Given the description of an element on the screen output the (x, y) to click on. 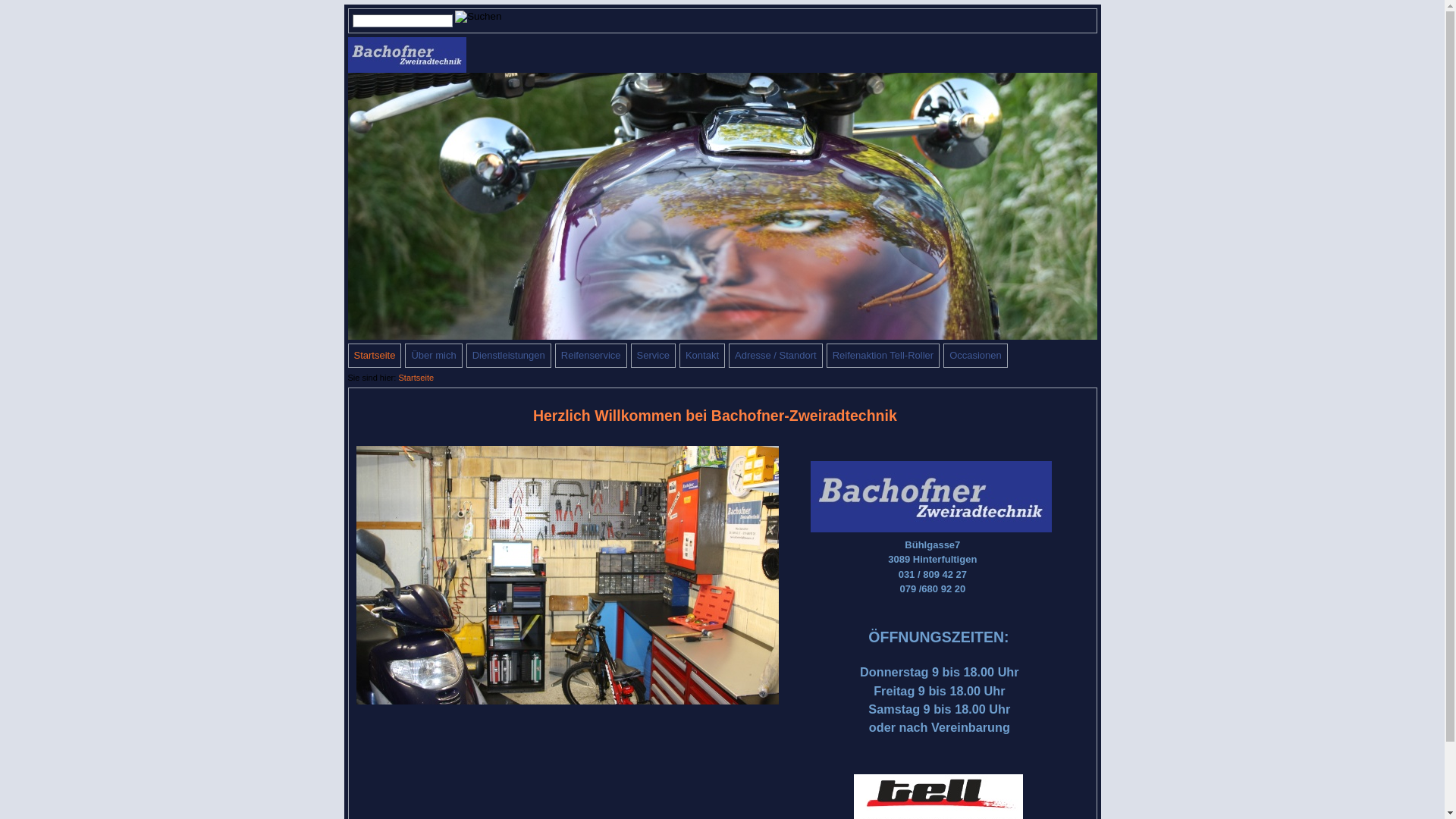
Occasionen Element type: text (975, 355)
Reifenservice Element type: text (591, 355)
IMG_0597.jpg Element type: hover (406, 54)
Dienstleistungen Element type: text (508, 355)
Reifenaktion Tell-Roller Element type: text (882, 355)
LOGO Element type: hover (930, 496)
IMG_0472.jpg Element type: hover (567, 574)
Startseite Element type: text (374, 355)
IMG 0597 Element type: hover (721, 205)
Kontakt Element type: text (701, 355)
Startseite Element type: text (415, 377)
Service Element type: text (652, 355)
Adresse / Standort Element type: text (775, 355)
